Given the description of an element on the screen output the (x, y) to click on. 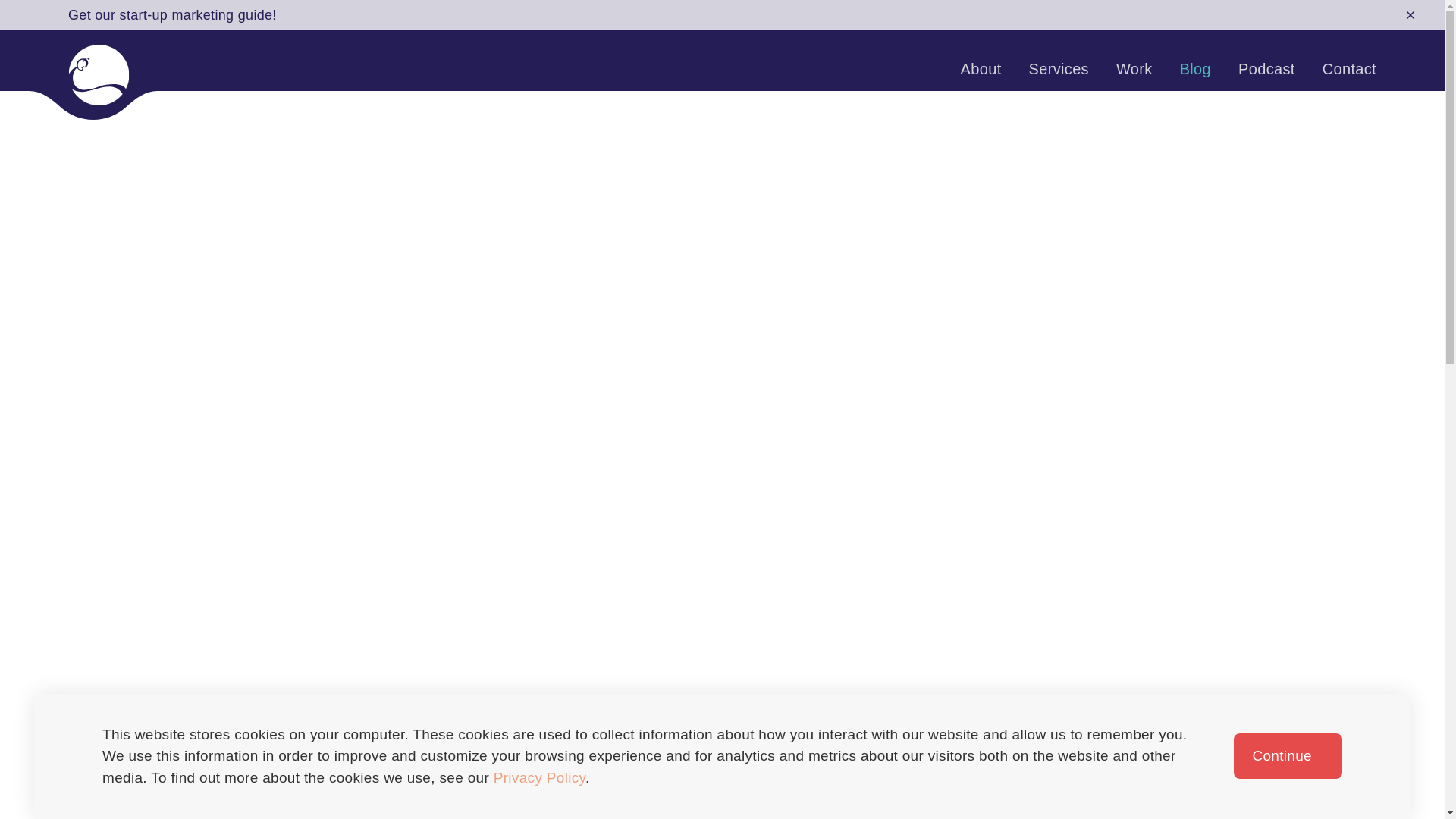
Privacy Policy (539, 776)
Get our start-up marketing guide! (172, 14)
Close (1409, 15)
Continue (1287, 755)
Contact (1348, 68)
Services (1059, 68)
Work (1134, 68)
Podcast (1267, 68)
Blog (1195, 68)
About (980, 68)
